Given the description of an element on the screen output the (x, y) to click on. 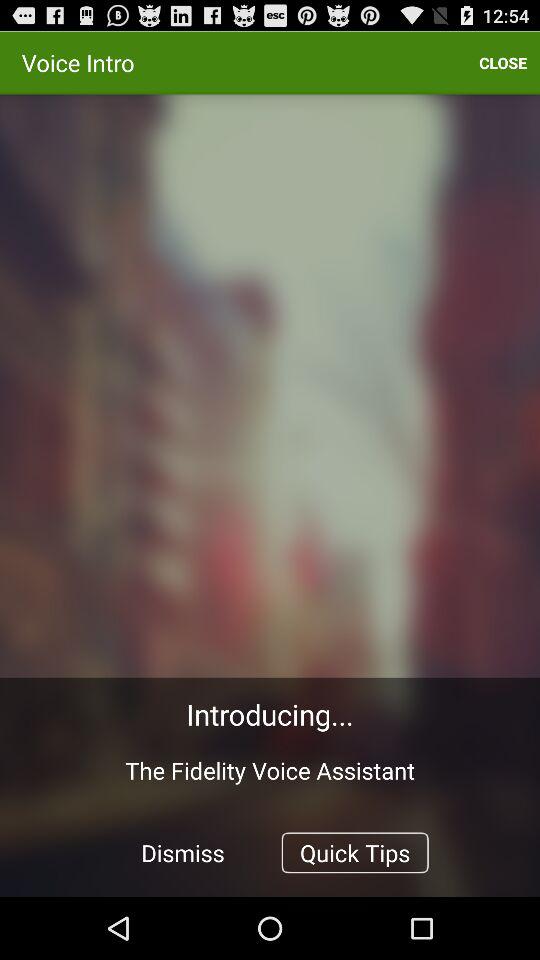
flip to quick tips button (354, 852)
